Given the description of an element on the screen output the (x, y) to click on. 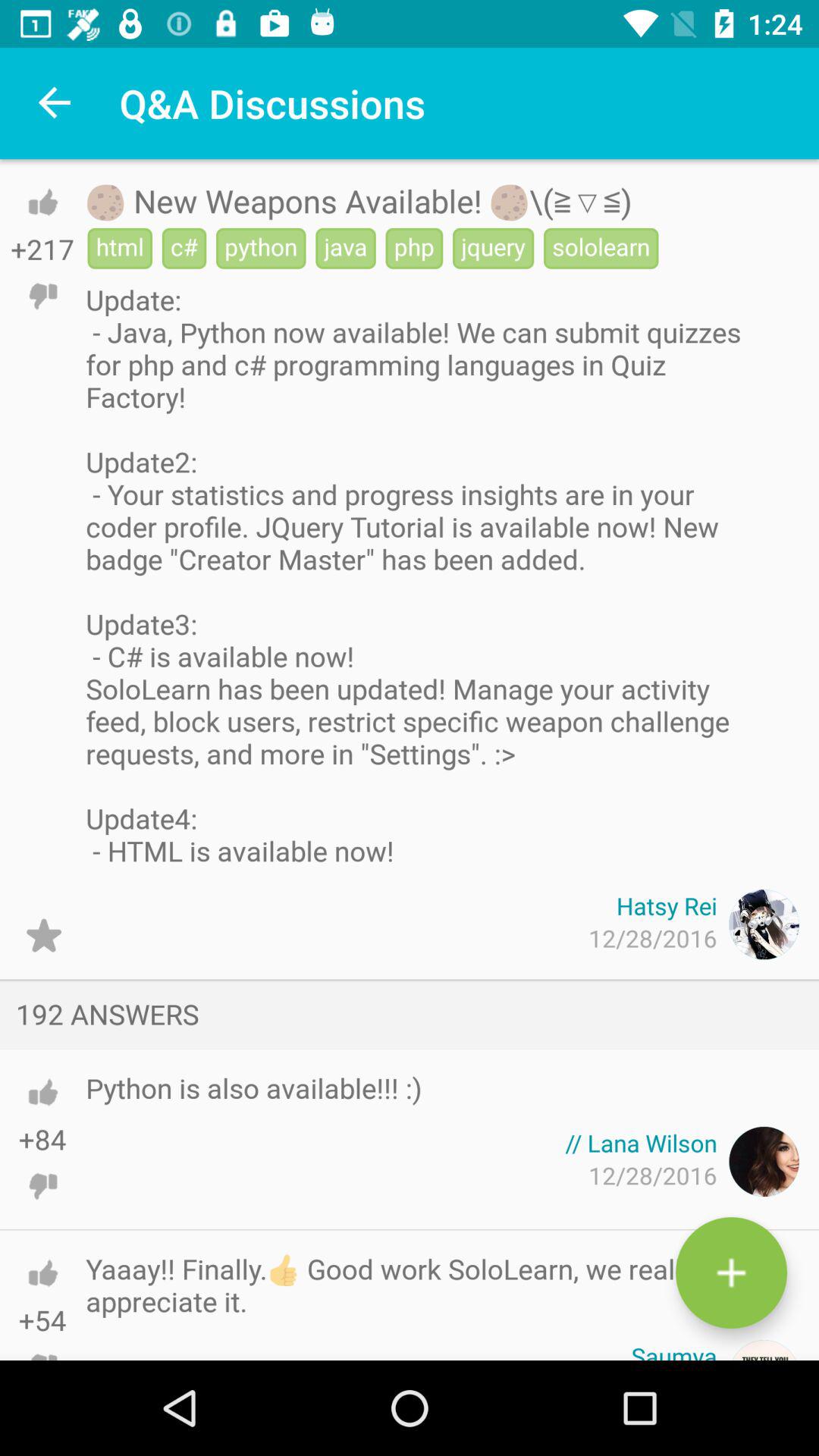
do n't like (42, 296)
